Given the description of an element on the screen output the (x, y) to click on. 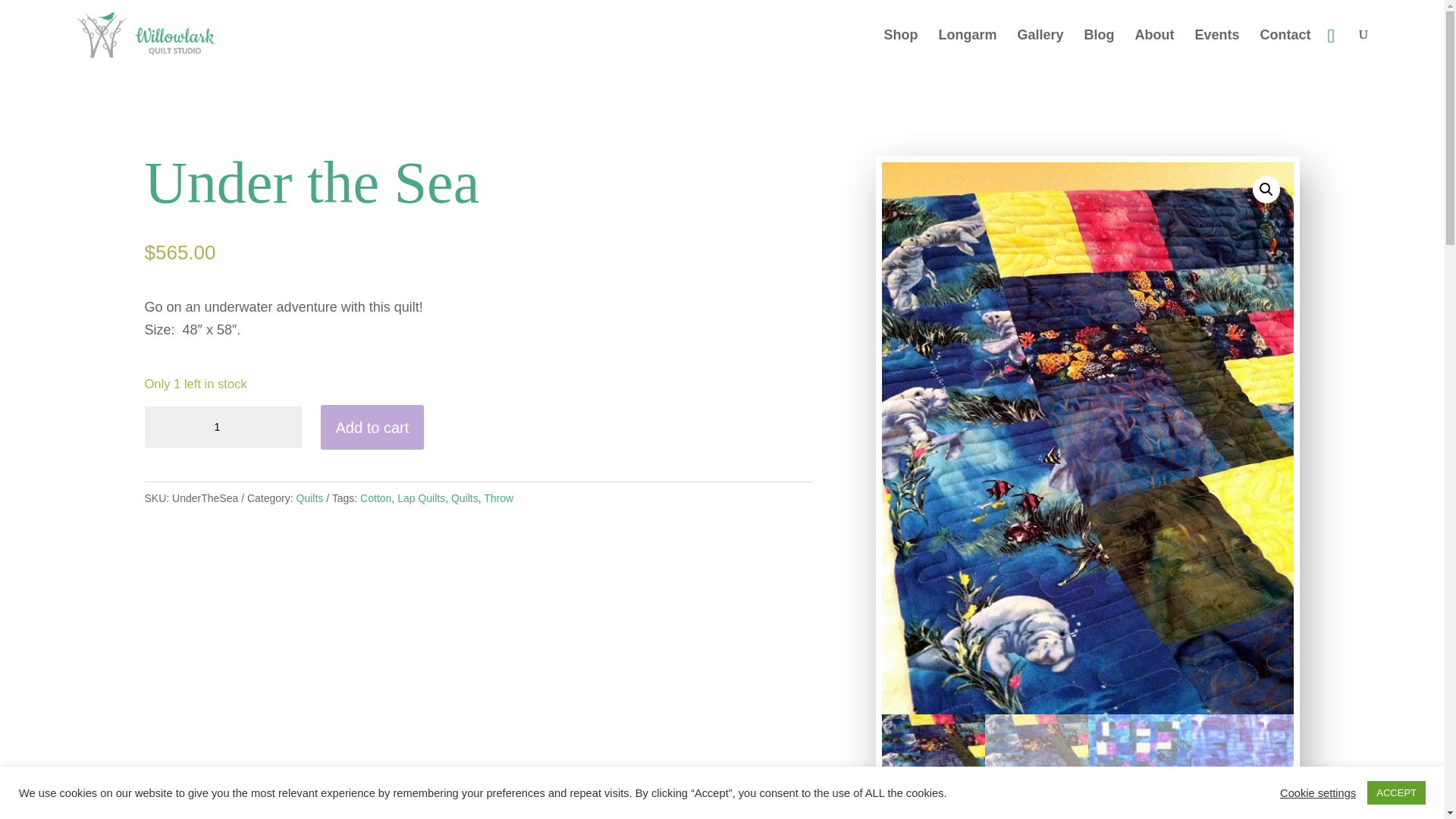
Gallery (1039, 48)
Cotton (375, 498)
Longarm (966, 48)
About (1154, 48)
Throw (498, 498)
Contact (1285, 48)
Add to cart (372, 426)
1 (222, 427)
Quilts (310, 498)
Events (1217, 48)
Quilts (465, 498)
Lap Quilts (421, 498)
